Given the description of an element on the screen output the (x, y) to click on. 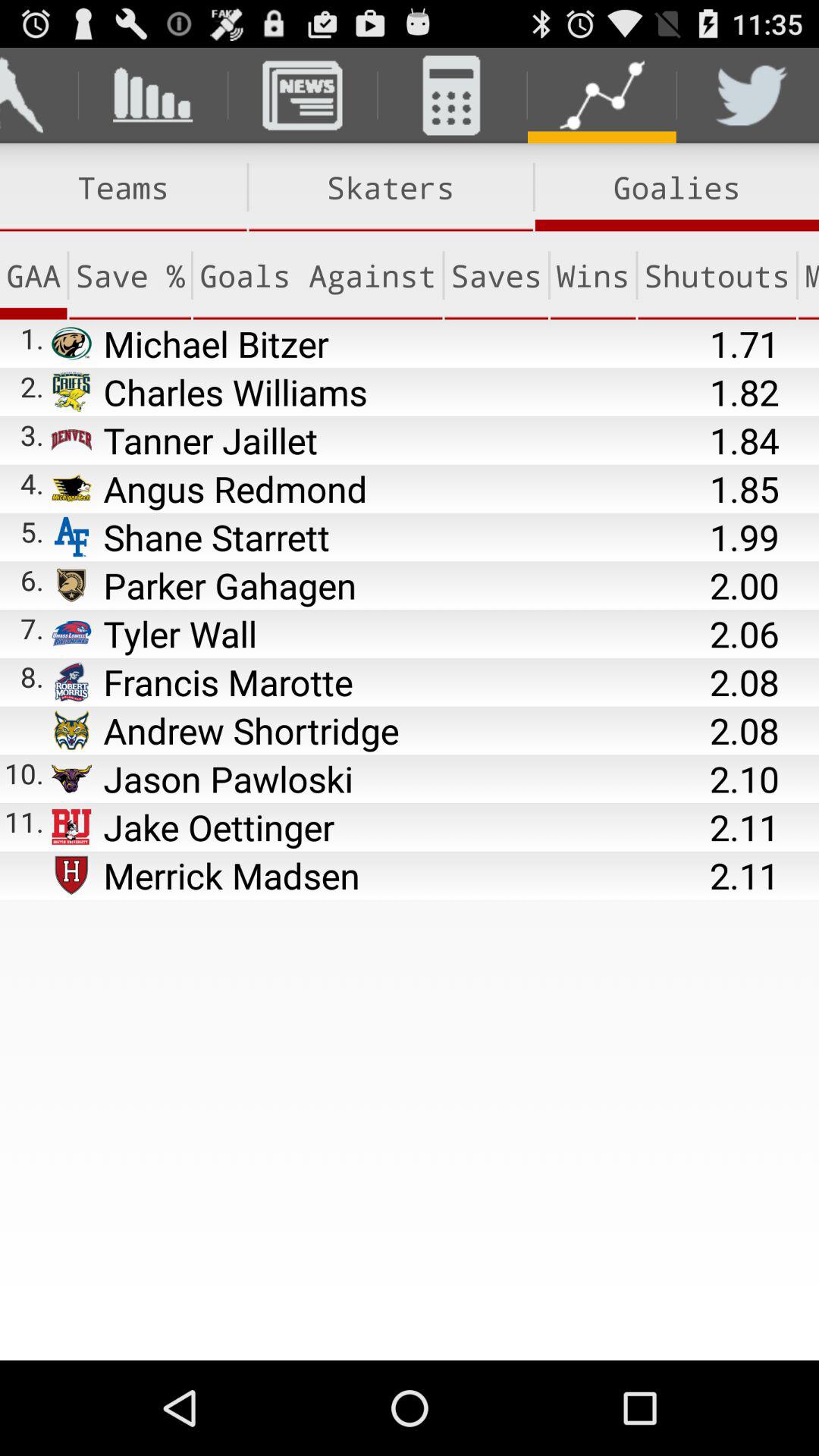
click the item above the gaa (123, 187)
